Given the description of an element on the screen output the (x, y) to click on. 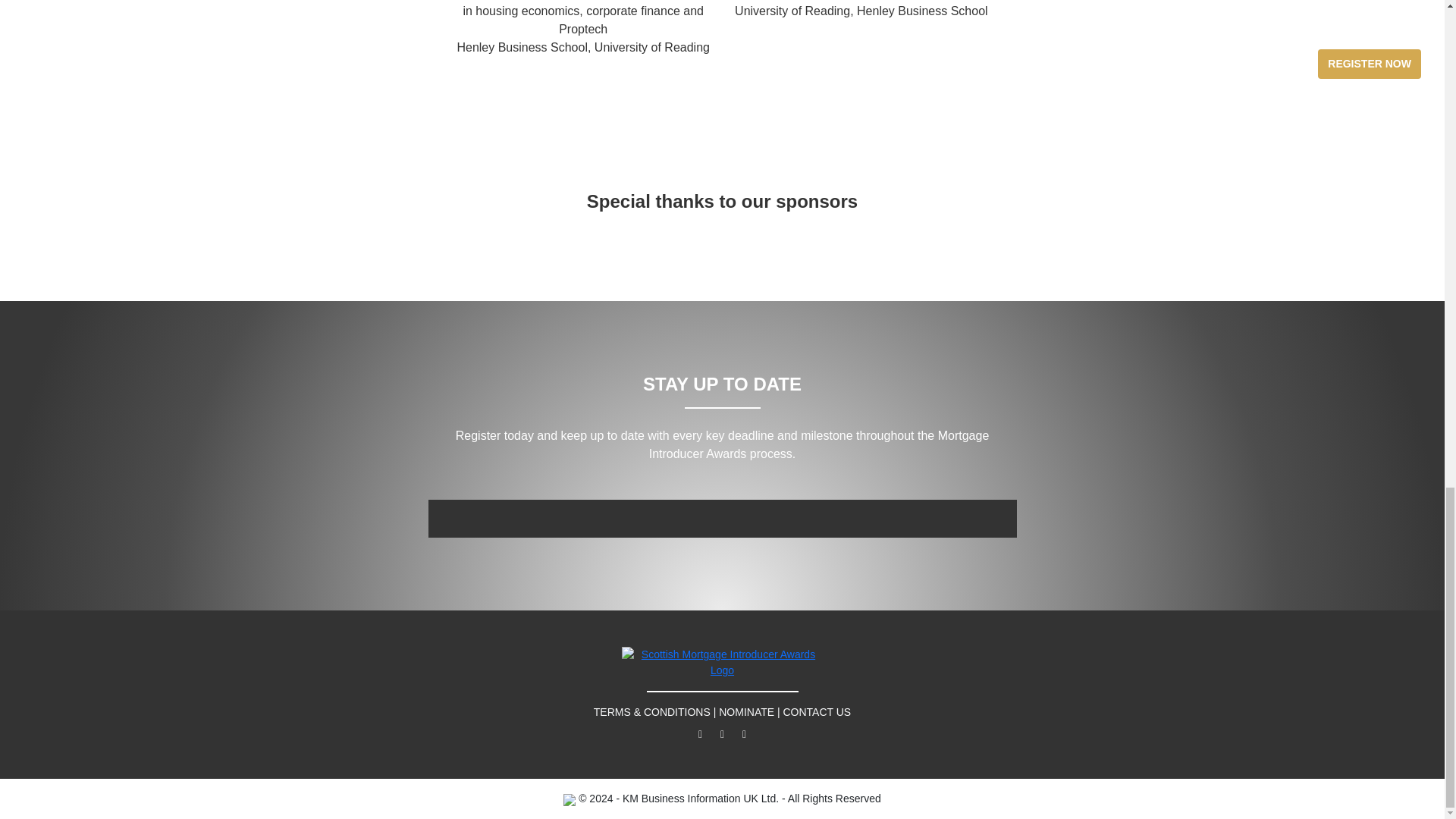
Mortgage Introducer Awards LinkedIn page (744, 734)
Mortgage Introducer Awards Facebook page (722, 734)
Mortgage Introducer Awards Twitter page (700, 734)
